Given the description of an element on the screen output the (x, y) to click on. 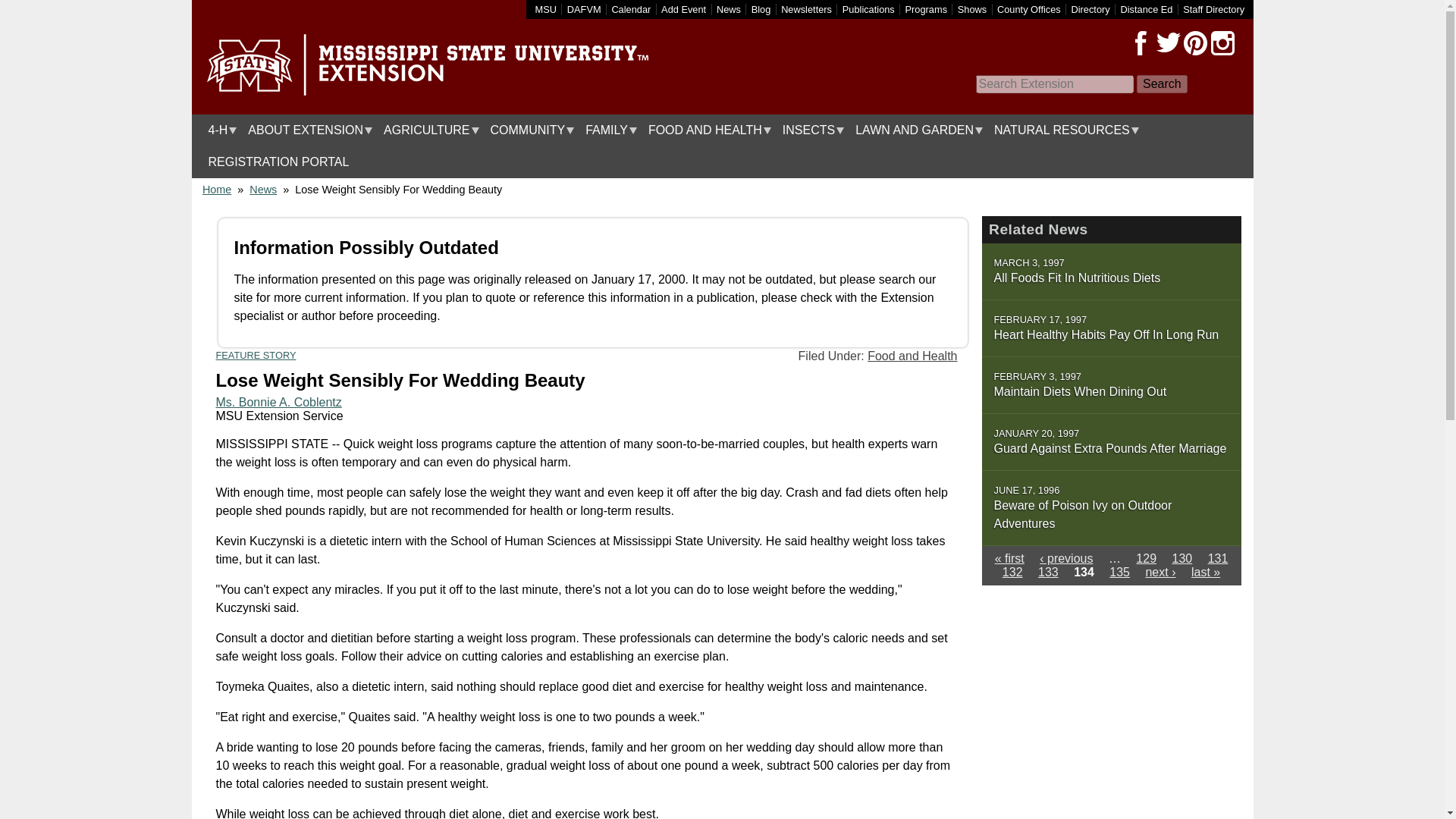
Search (1162, 84)
Shows (972, 9)
Facebook (1140, 43)
County Offices (1029, 9)
4-H (218, 130)
Link to Mississippi State University (545, 9)
Directory (1089, 9)
Blog (761, 9)
Twitter (1167, 43)
Newsletters (805, 9)
DAFVM (584, 9)
